Given the description of an element on the screen output the (x, y) to click on. 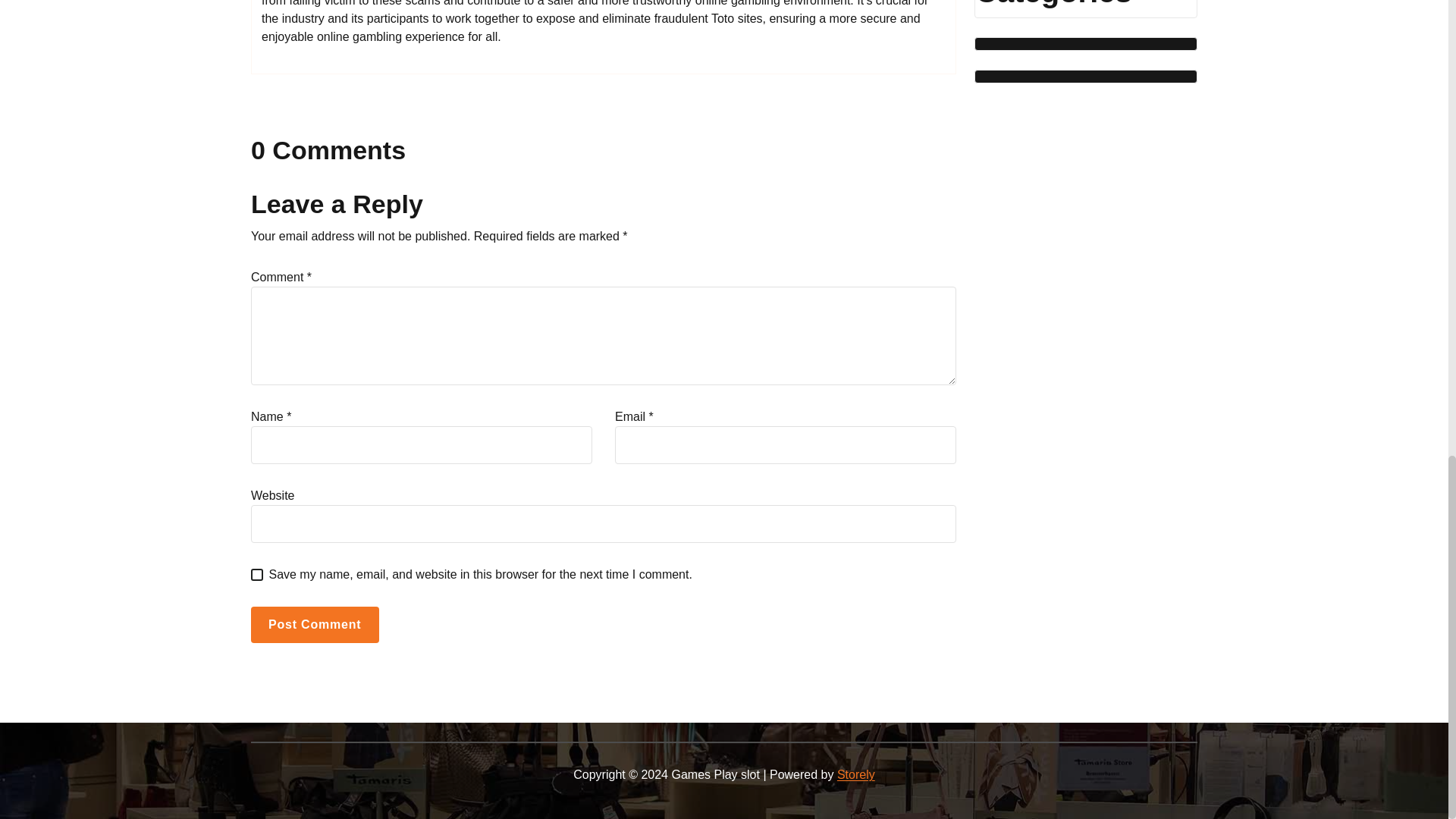
Post Comment (314, 624)
yes (256, 574)
